Given the description of an element on the screen output the (x, y) to click on. 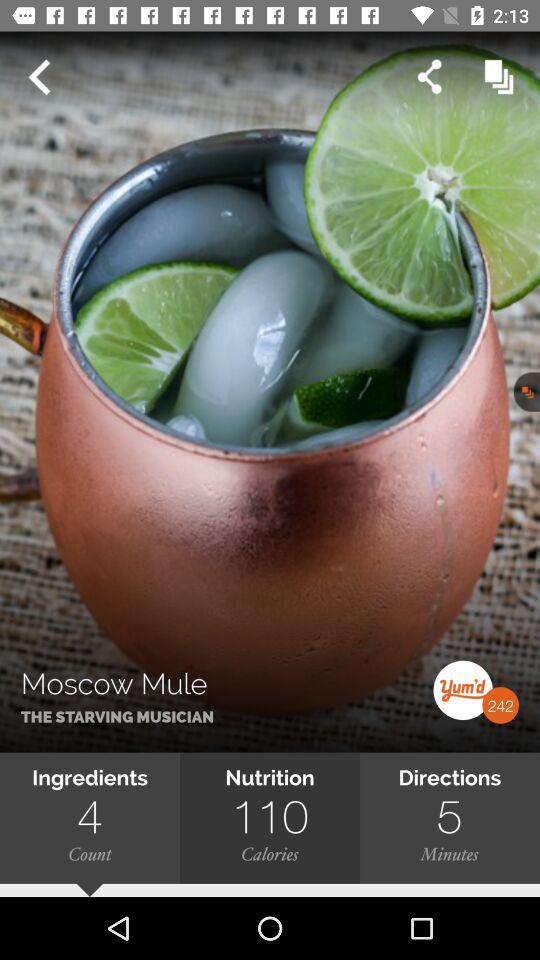
turn off icon above ingredients icon (270, 391)
